Given the description of an element on the screen output the (x, y) to click on. 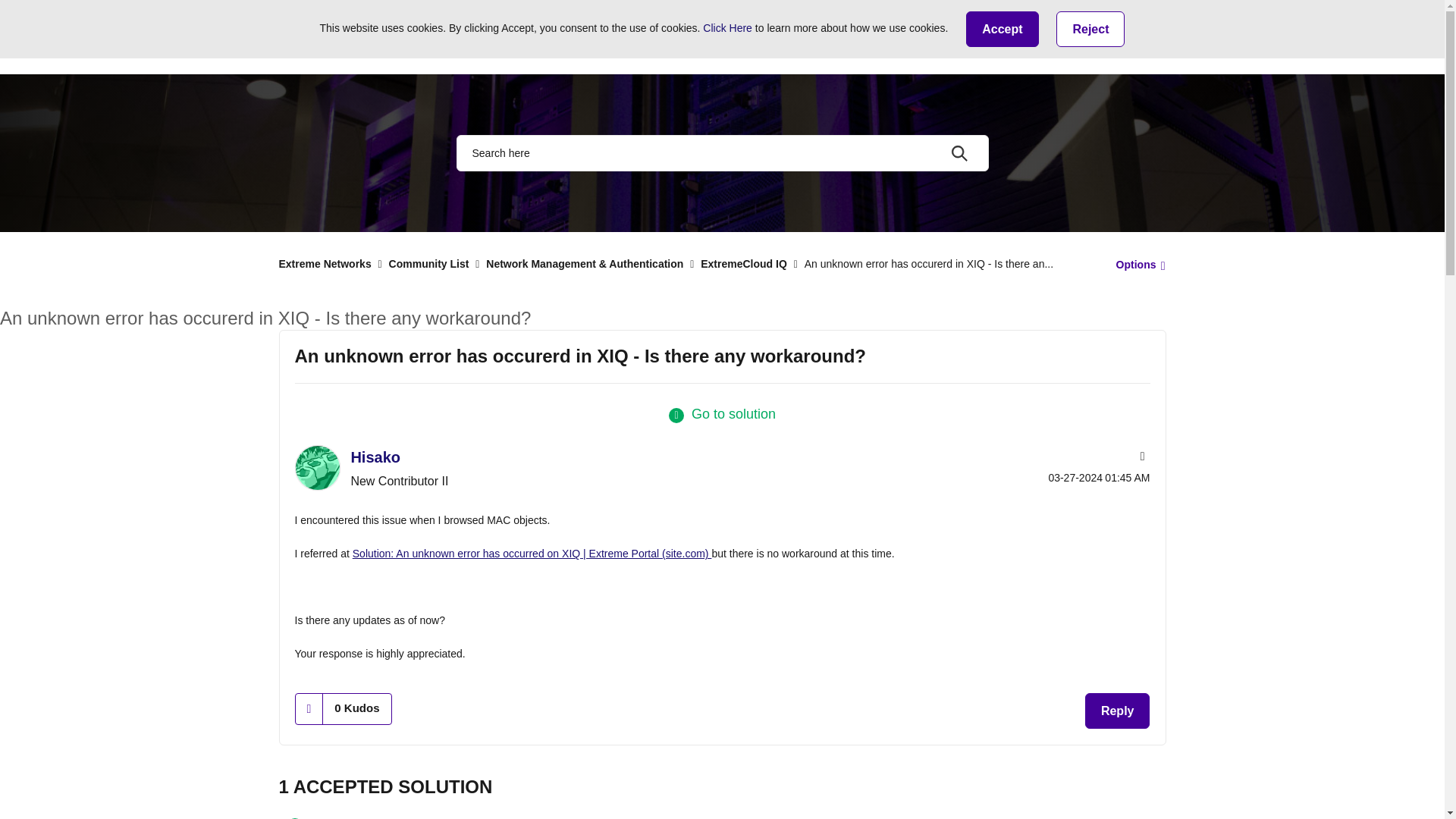
The total number of kudos this post has received. (356, 707)
Click here to give kudos to this post. (309, 708)
Search (722, 153)
Hisako (316, 467)
Search (959, 152)
Show option menu (1136, 264)
Click Here (727, 28)
Accept (1002, 28)
Community List (483, 36)
Reject (1090, 28)
